Given the description of an element on the screen output the (x, y) to click on. 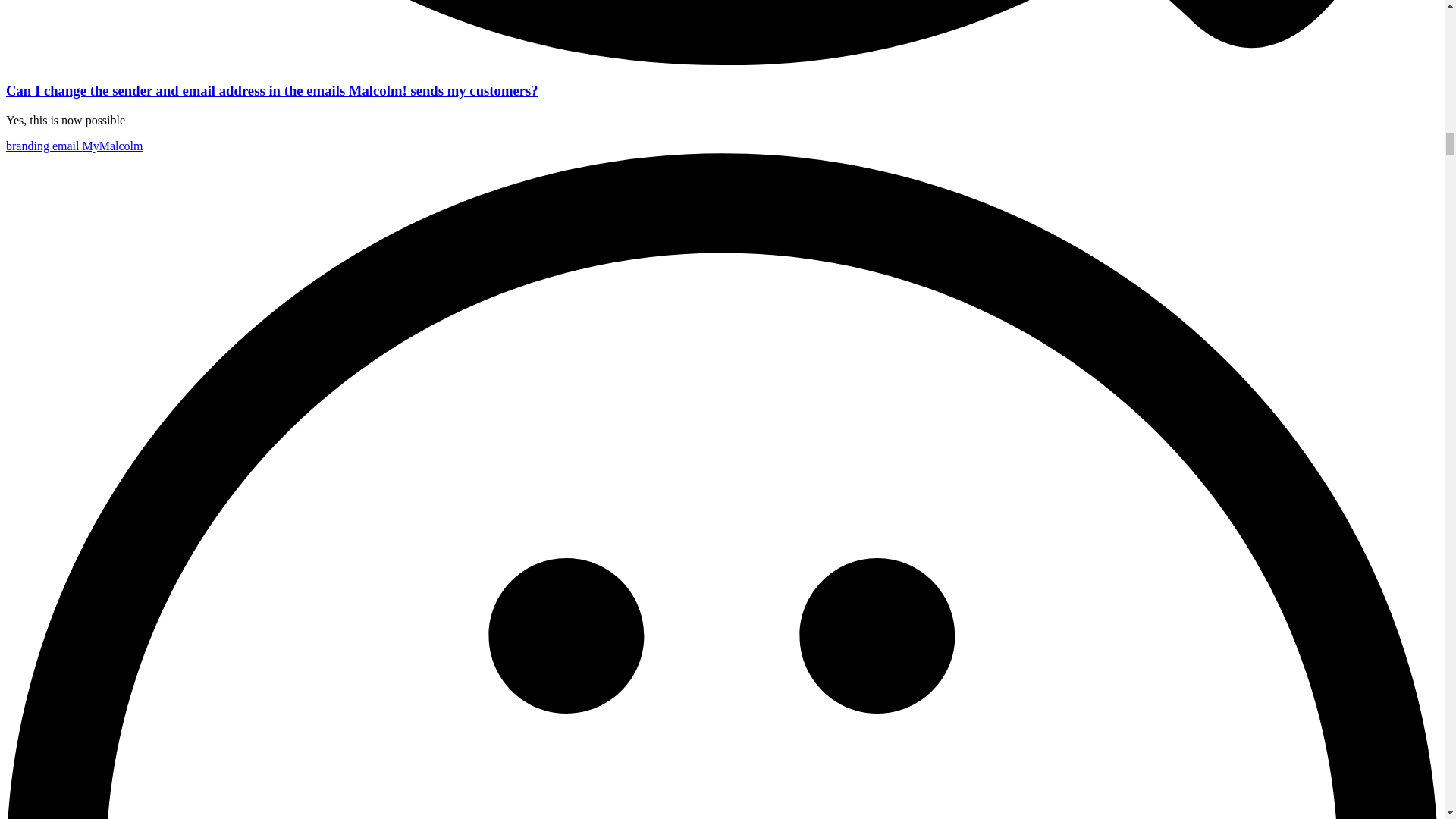
MyMalcolm (111, 145)
branding (28, 145)
email (67, 145)
